Given the description of an element on the screen output the (x, y) to click on. 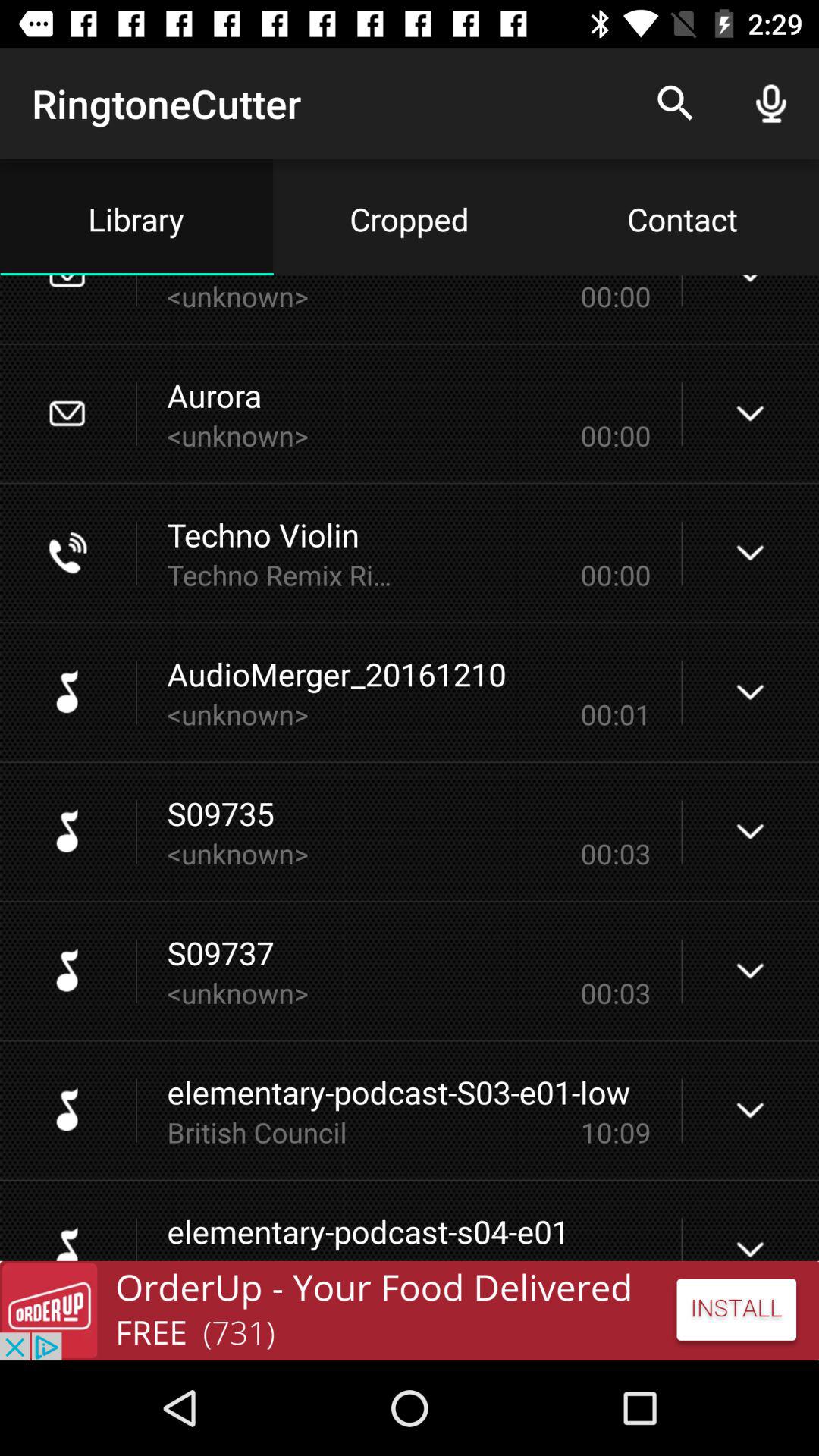
say a name of a song (409, 1310)
